Given the description of an element on the screen output the (x, y) to click on. 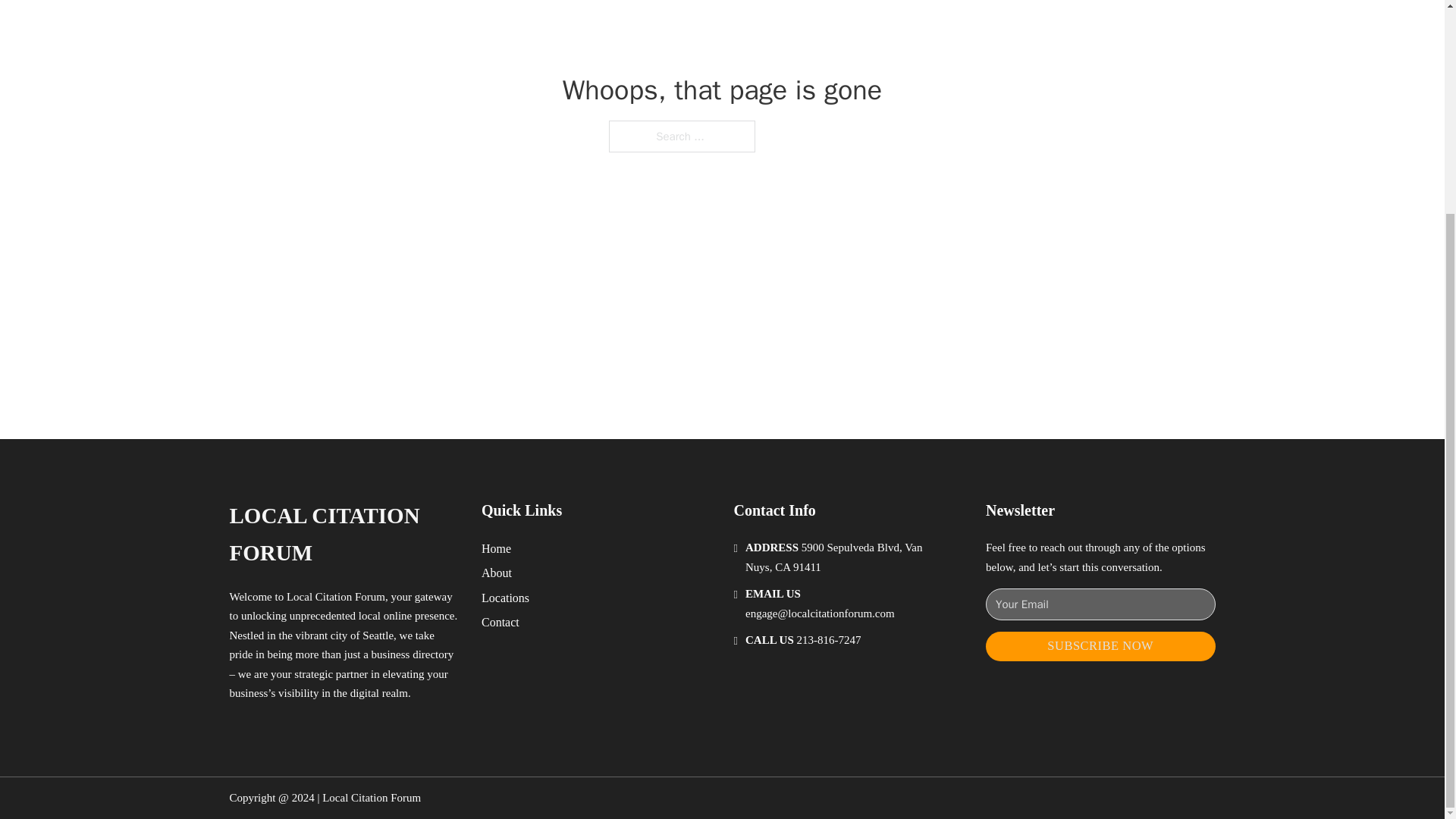
Contact (500, 621)
LOCAL CITATION FORUM (343, 534)
SUBSCRIBE NOW (1100, 645)
Home (496, 548)
Locations (505, 598)
About (496, 572)
